Given the description of an element on the screen output the (x, y) to click on. 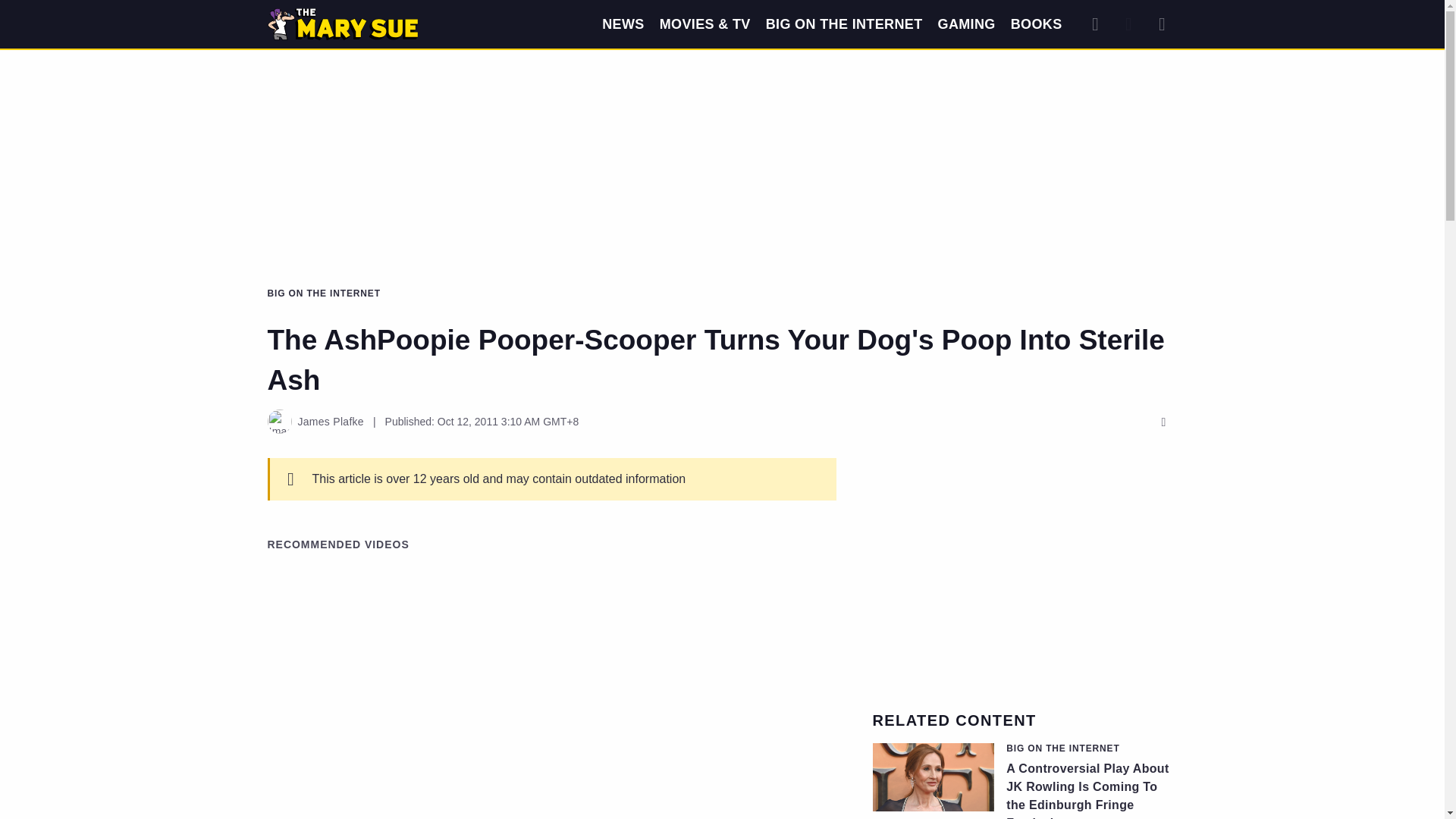
NEWS (622, 23)
BOOKS (1036, 23)
GAMING (966, 23)
Expand Menu (1161, 24)
Dark Mode (1127, 24)
Search (1094, 24)
BIG ON THE INTERNET (844, 23)
